Given the description of an element on the screen output the (x, y) to click on. 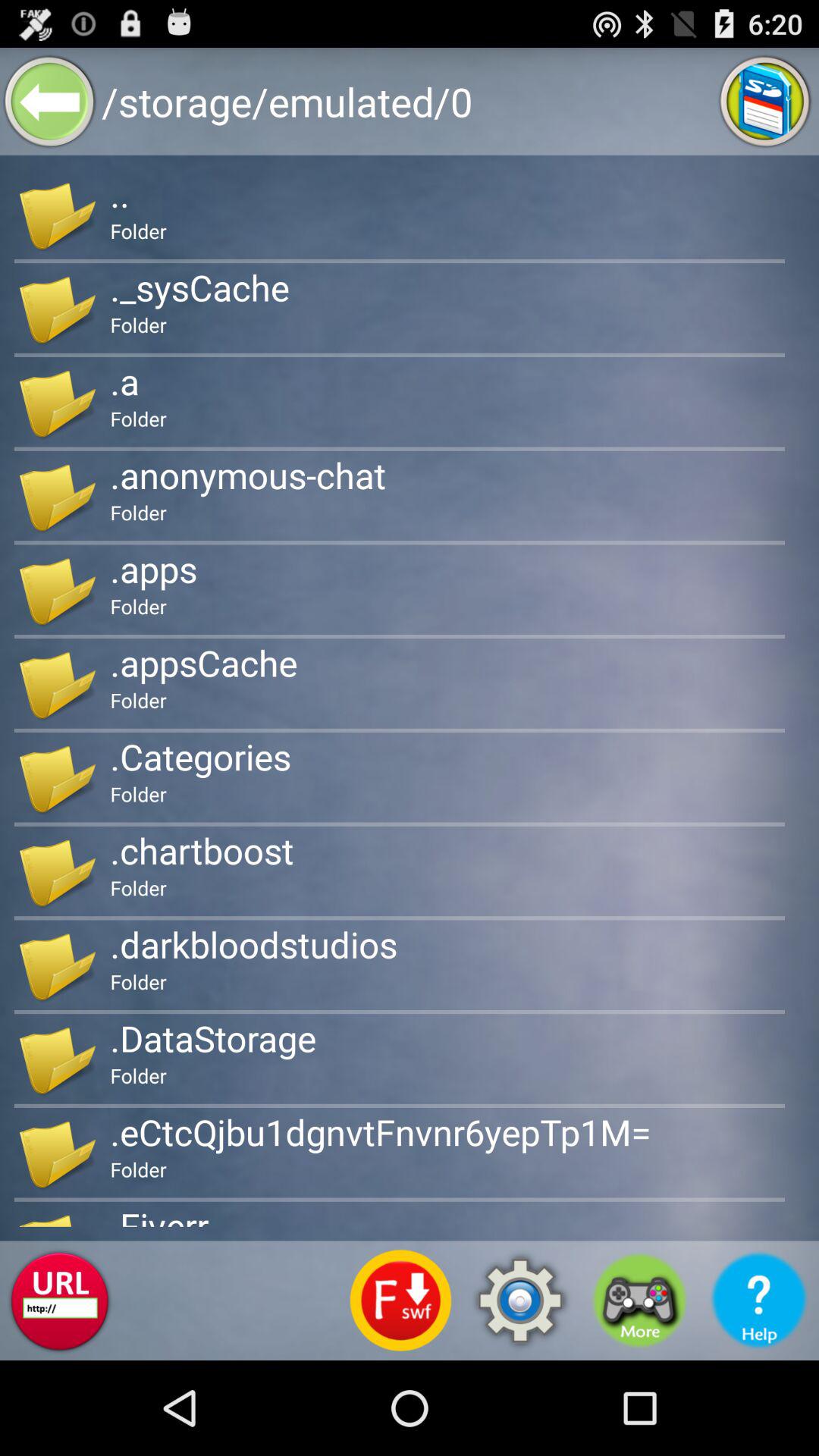
select the .apps app (153, 568)
